Given the description of an element on the screen output the (x, y) to click on. 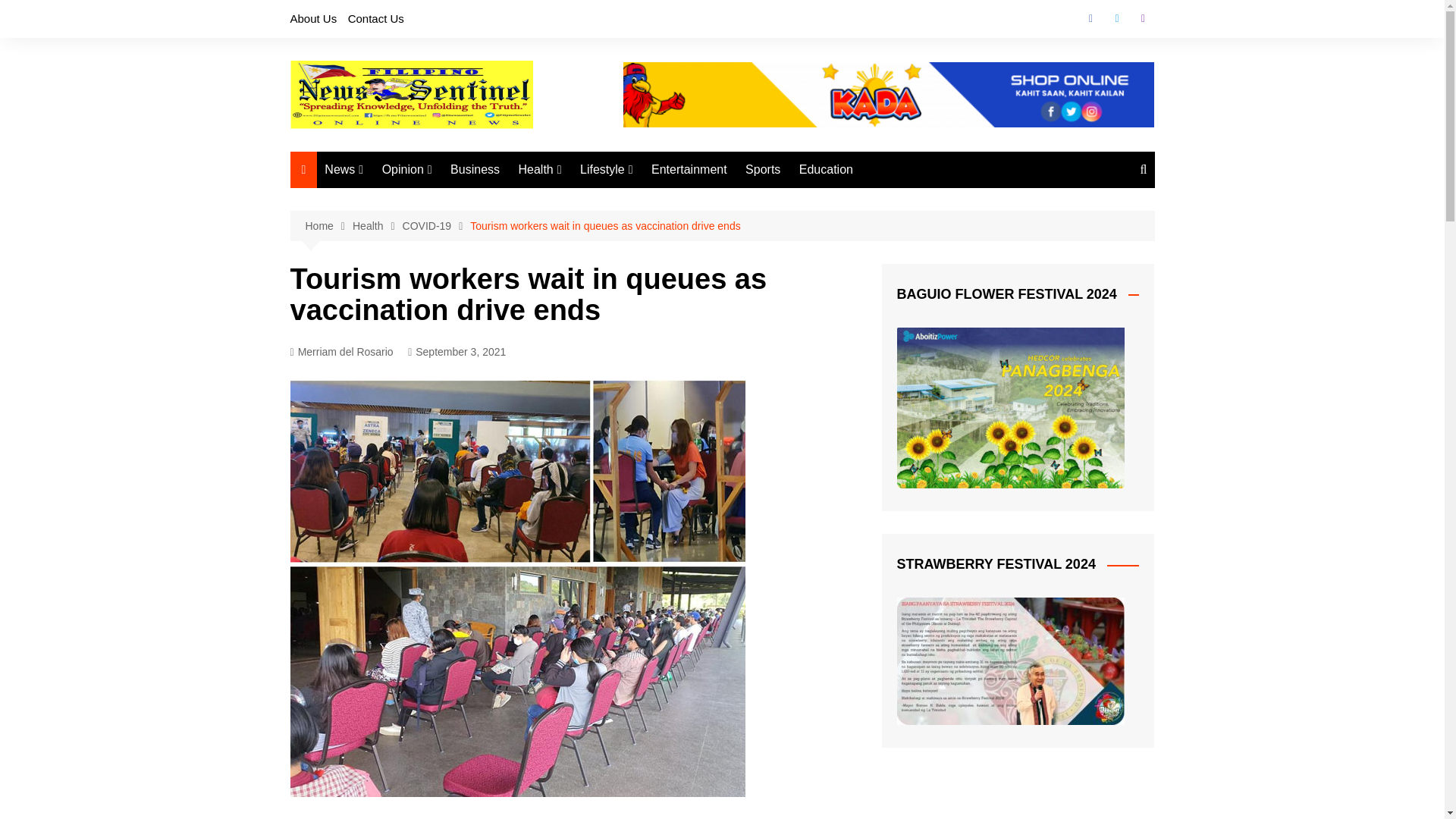
Health (377, 226)
Fashion (655, 275)
Arts and Crafts (655, 225)
Health (540, 169)
Facebook (1091, 18)
Islam is the Solution (457, 250)
Twitter (1116, 18)
News (344, 169)
Opinion (406, 169)
COVID-19 (436, 226)
Tourism (655, 200)
About Us (312, 18)
Buhay OFW (457, 225)
Sports (762, 169)
Tourism workers wait in queues as vaccination drive ends (604, 225)
